Given the description of an element on the screen output the (x, y) to click on. 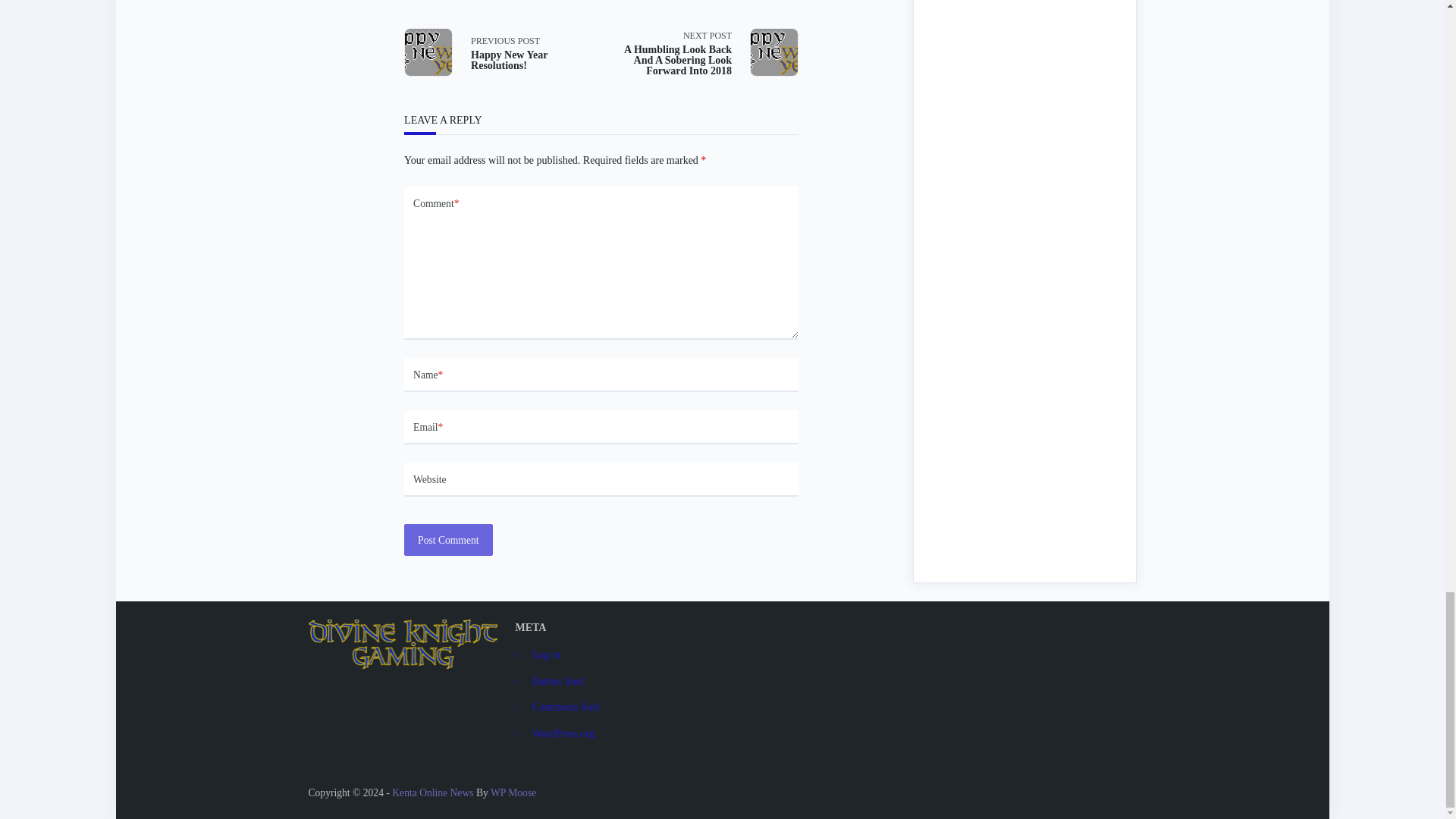
Post Comment (448, 540)
